Given the description of an element on the screen output the (x, y) to click on. 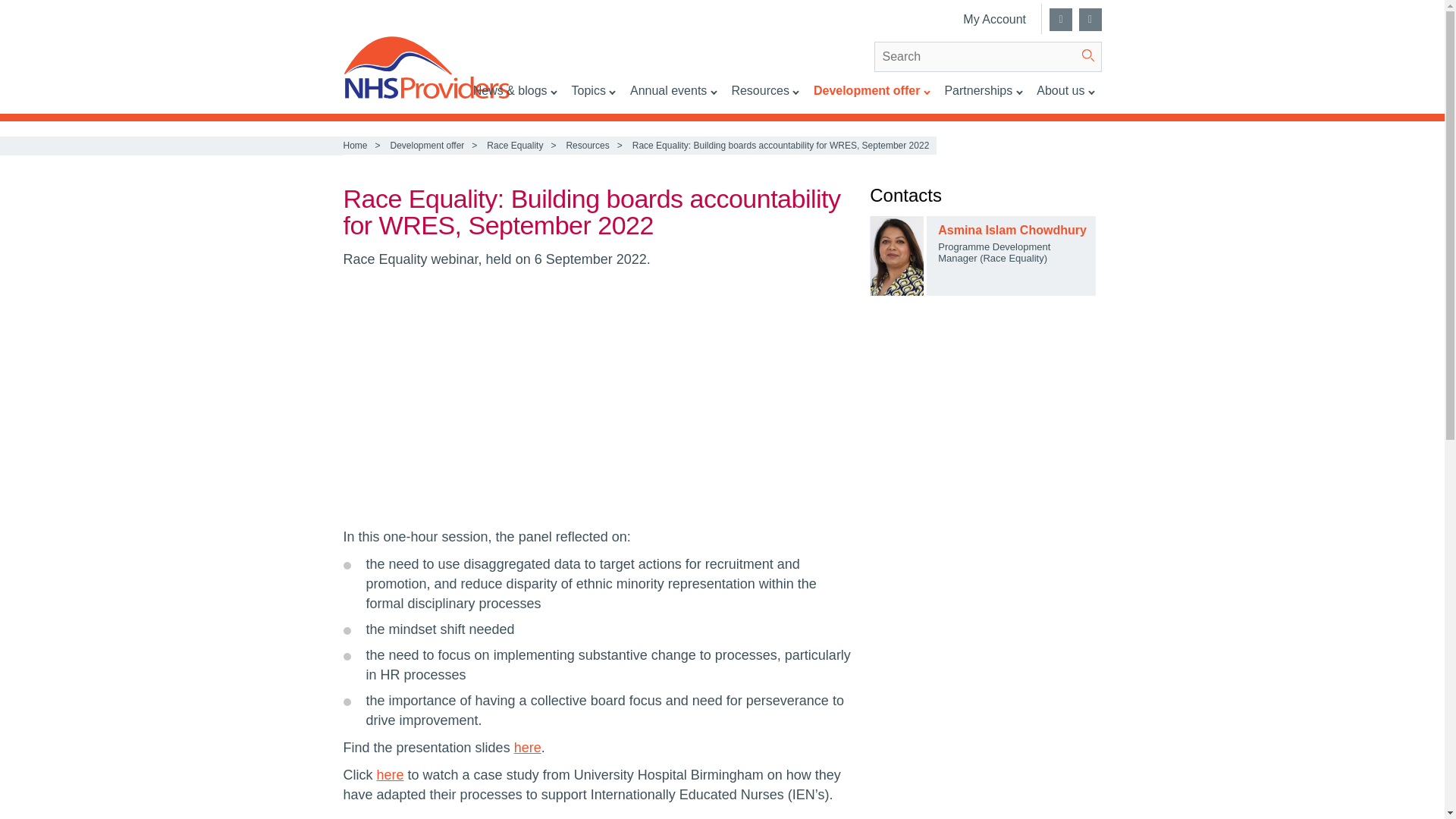
Slides - Building board accountability for WRES (527, 747)
Topics (593, 98)
YouTube video player (554, 395)
LinkedIn (1089, 19)
Twitter (1060, 19)
UHB case study (390, 774)
